Given the description of an element on the screen output the (x, y) to click on. 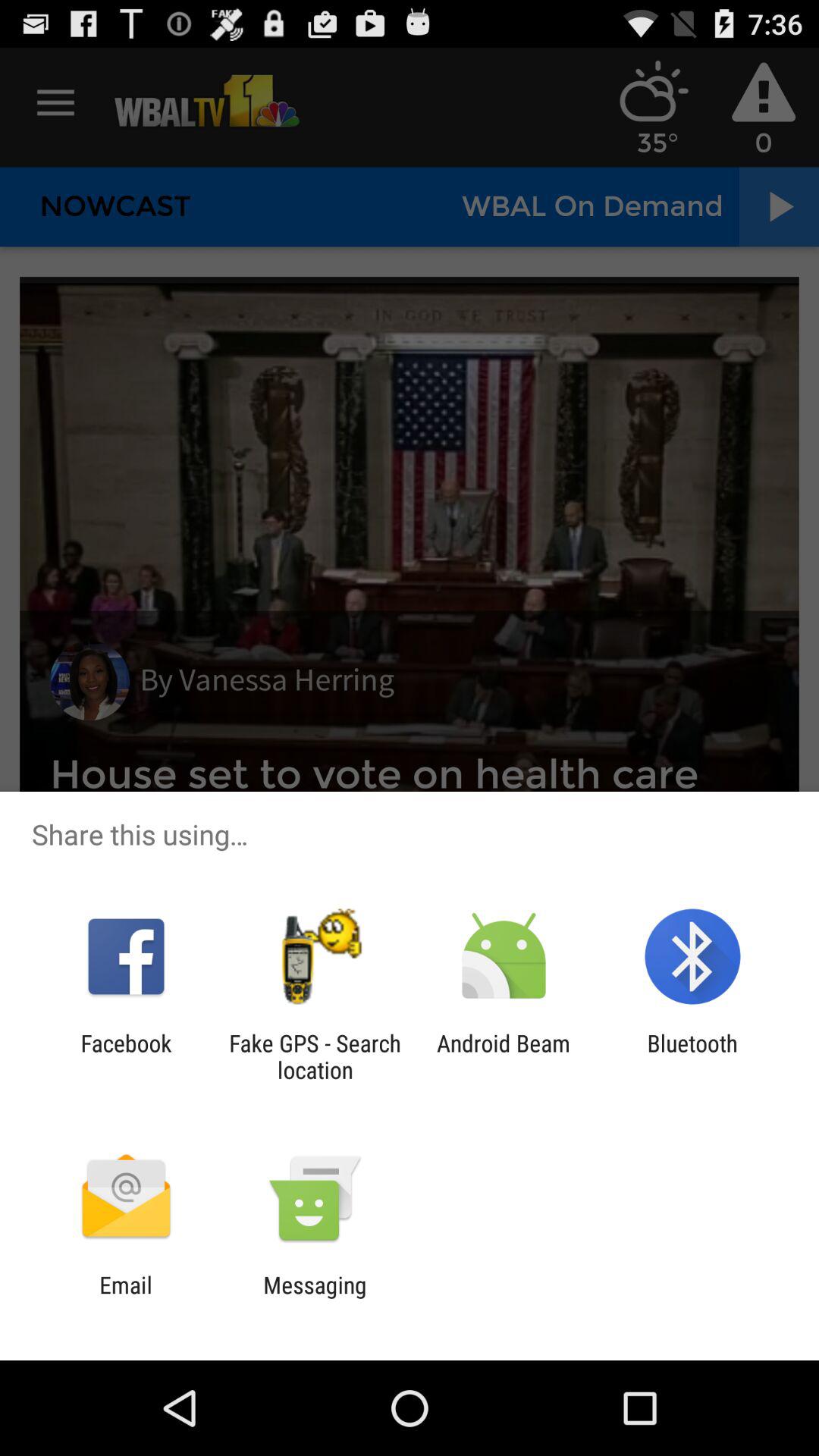
tap item to the left of bluetooth icon (503, 1056)
